Given the description of an element on the screen output the (x, y) to click on. 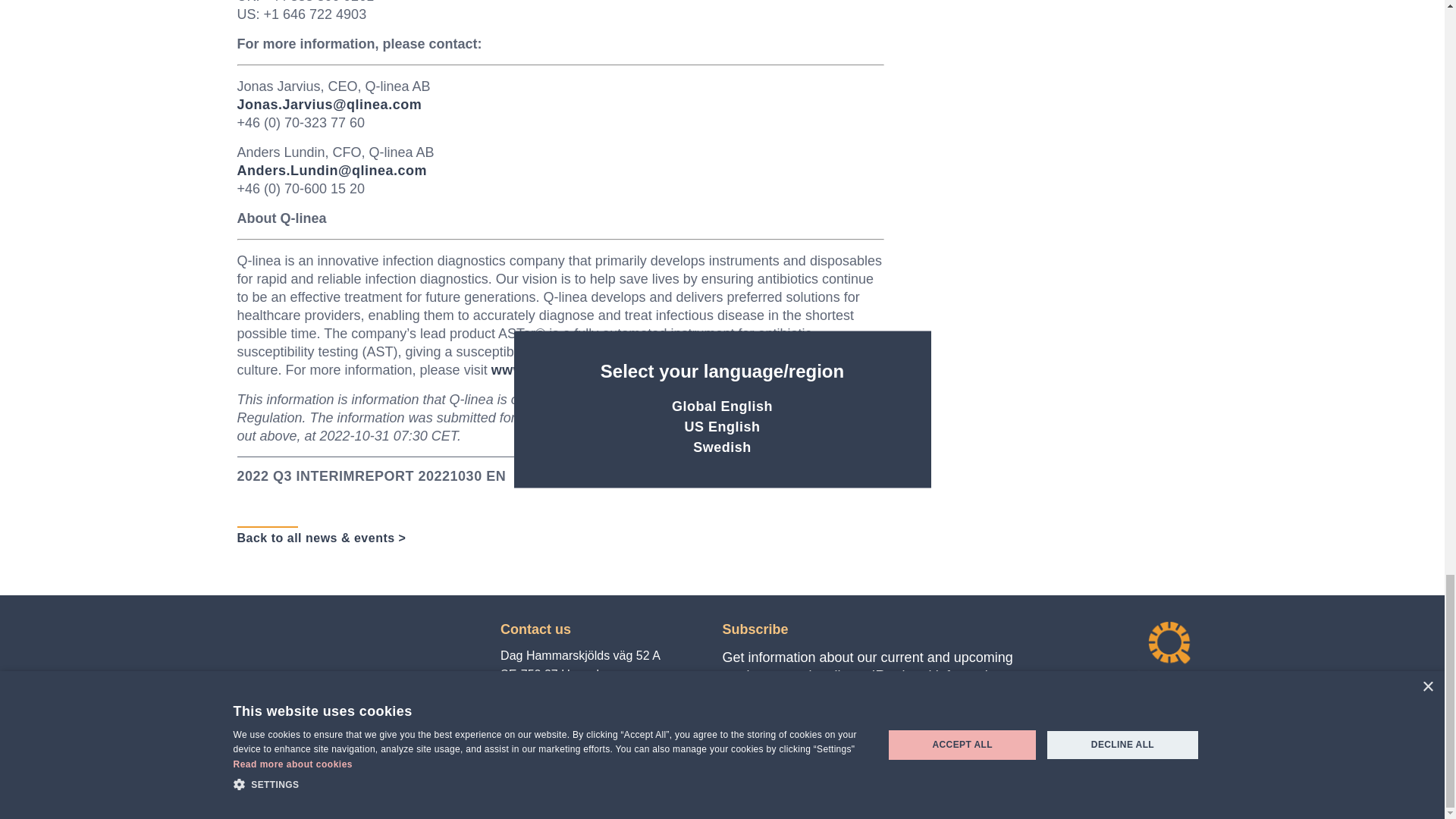
IR-related information (1006, 738)
Twitter (539, 762)
Subscribe to newsletter (812, 738)
